Given the description of an element on the screen output the (x, y) to click on. 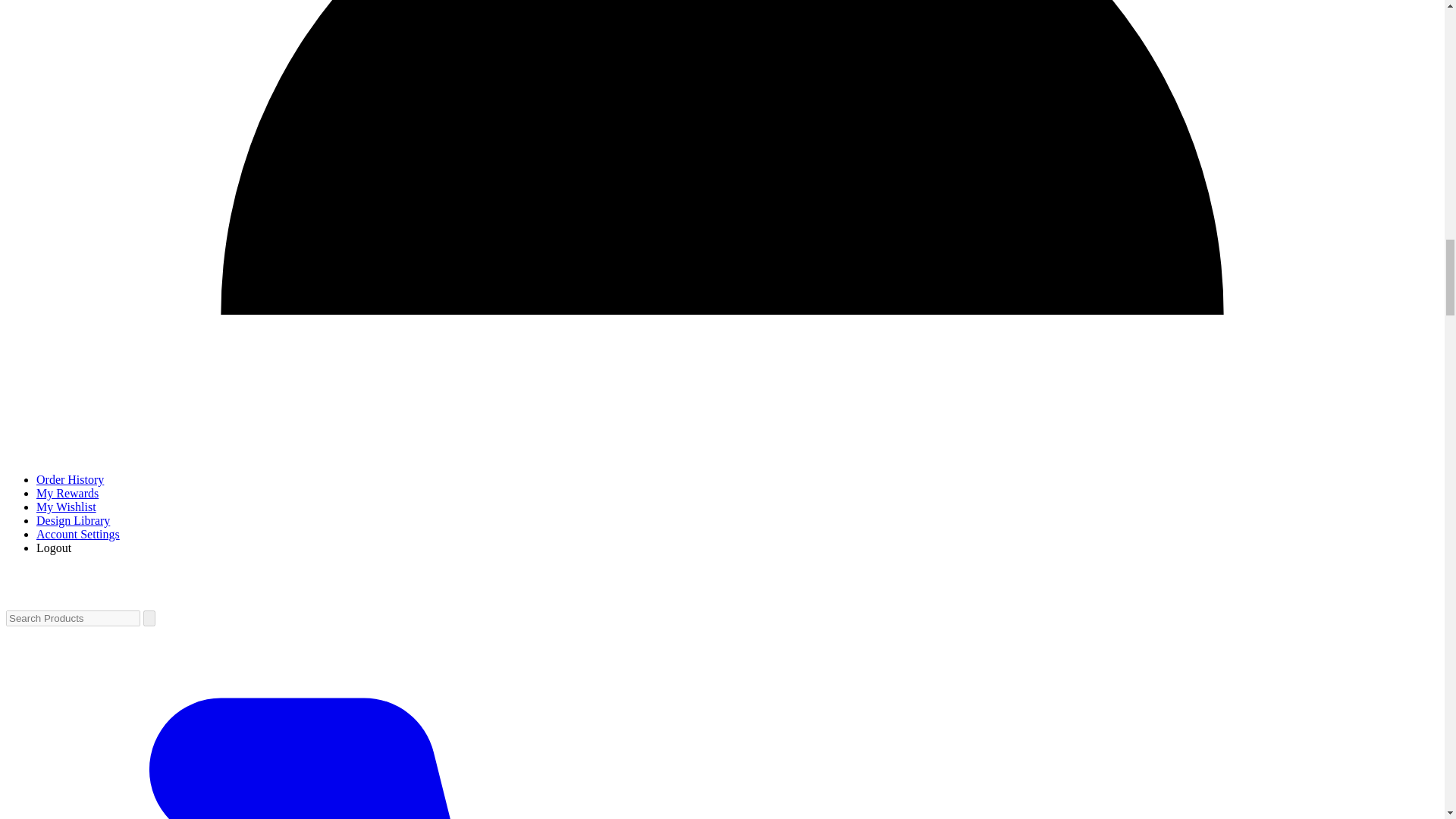
My Wishlist (66, 506)
MatterHackers (81, 597)
Order History (69, 479)
My Rewards (67, 492)
Account Settings (77, 533)
Design Library (73, 520)
